Given the description of an element on the screen output the (x, y) to click on. 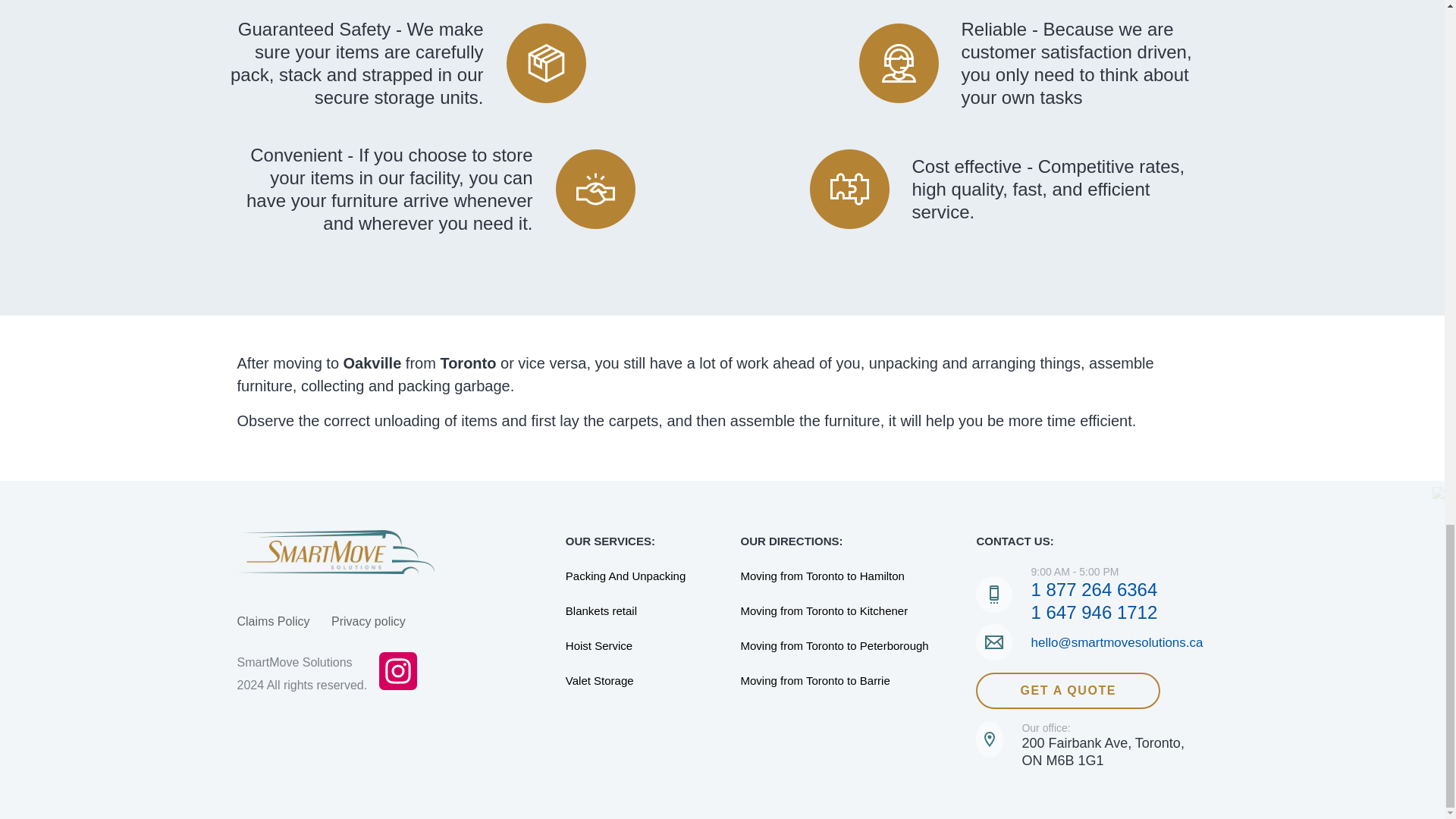
Moving from Toronto to Peterborough (849, 645)
Valet Storage (640, 680)
Blankets retail (640, 610)
Moving from Toronto to Hamilton (849, 576)
1 647 946 1712 (1093, 611)
1 877 264 6364 (1093, 589)
Packing And Unpacking (640, 576)
Moving from Toronto to Barrie (849, 680)
Claims Policy (271, 621)
Privacy policy (368, 621)
